Given the description of an element on the screen output the (x, y) to click on. 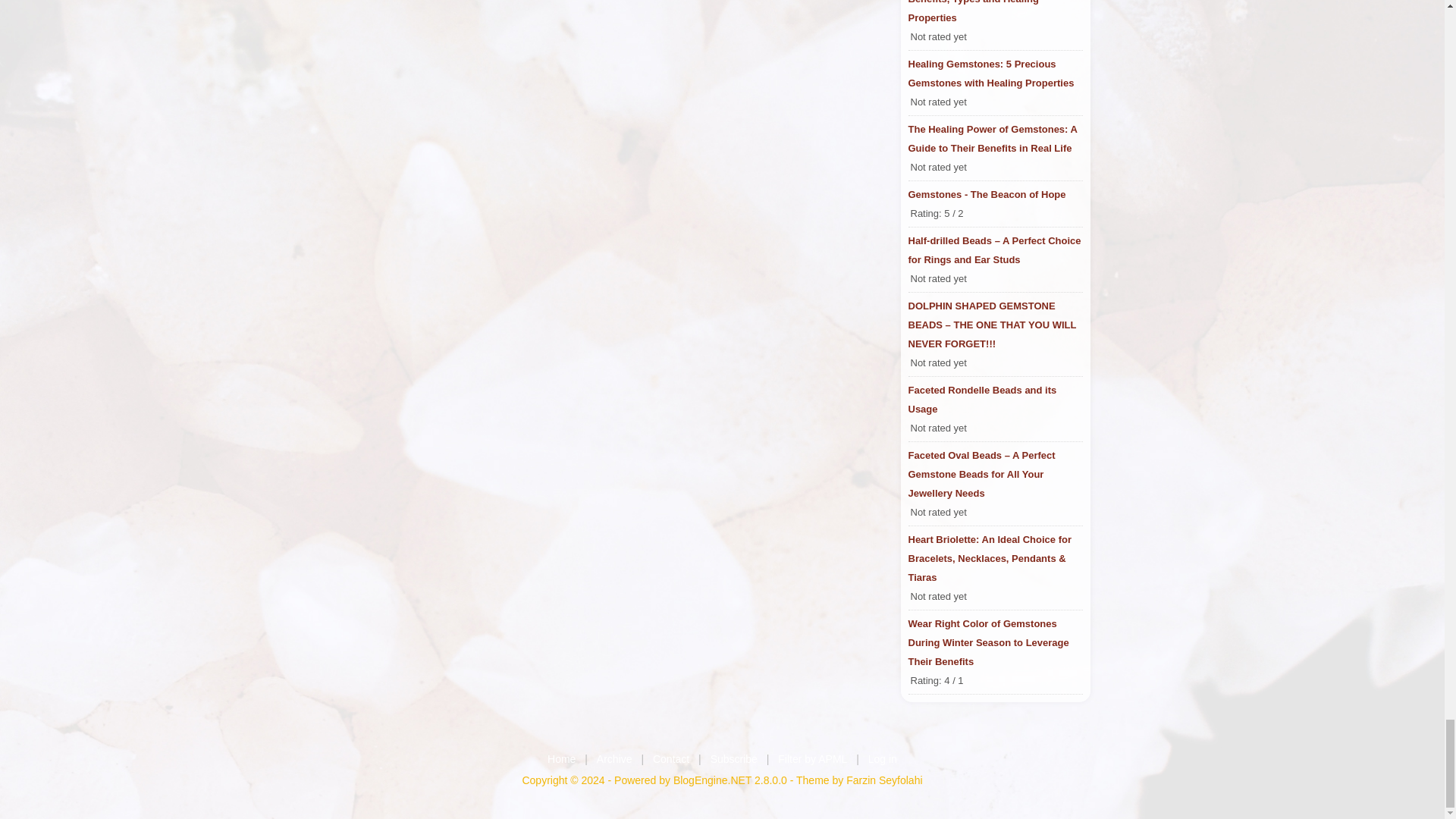
Faceted Rondelle Beads and its Usage (995, 399)
Subscribe (733, 758)
Log in (881, 758)
Gemstones - The Beacon of Hope (995, 194)
Contact (670, 758)
Home (561, 758)
Archive (613, 758)
Filter by APML (812, 758)
BlogEngine.NET (711, 779)
Farzin Seyfolahi (883, 779)
